Given the description of an element on the screen output the (x, y) to click on. 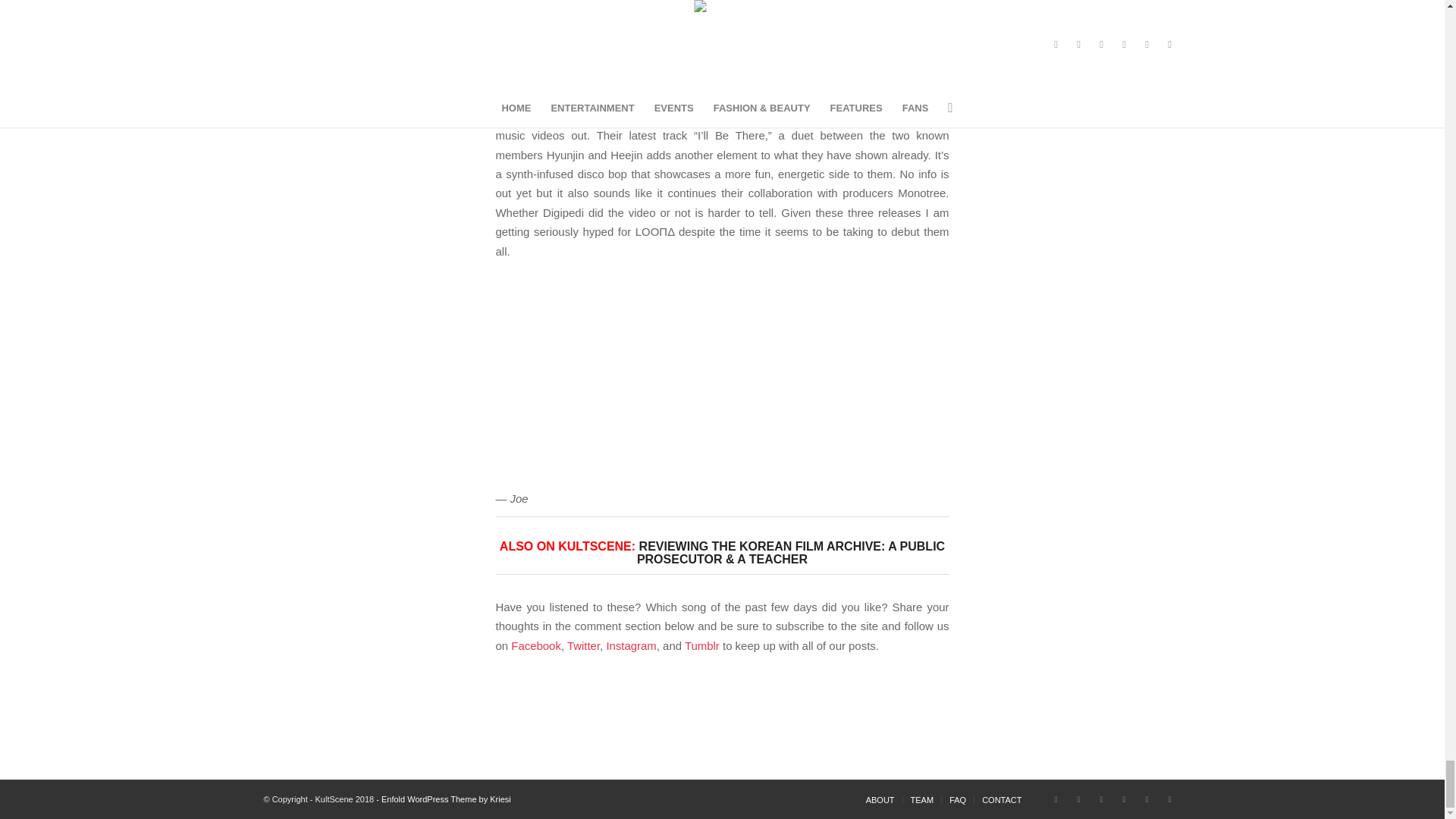
Facebook (1056, 798)
Twitter (1078, 798)
